Given the description of an element on the screen output the (x, y) to click on. 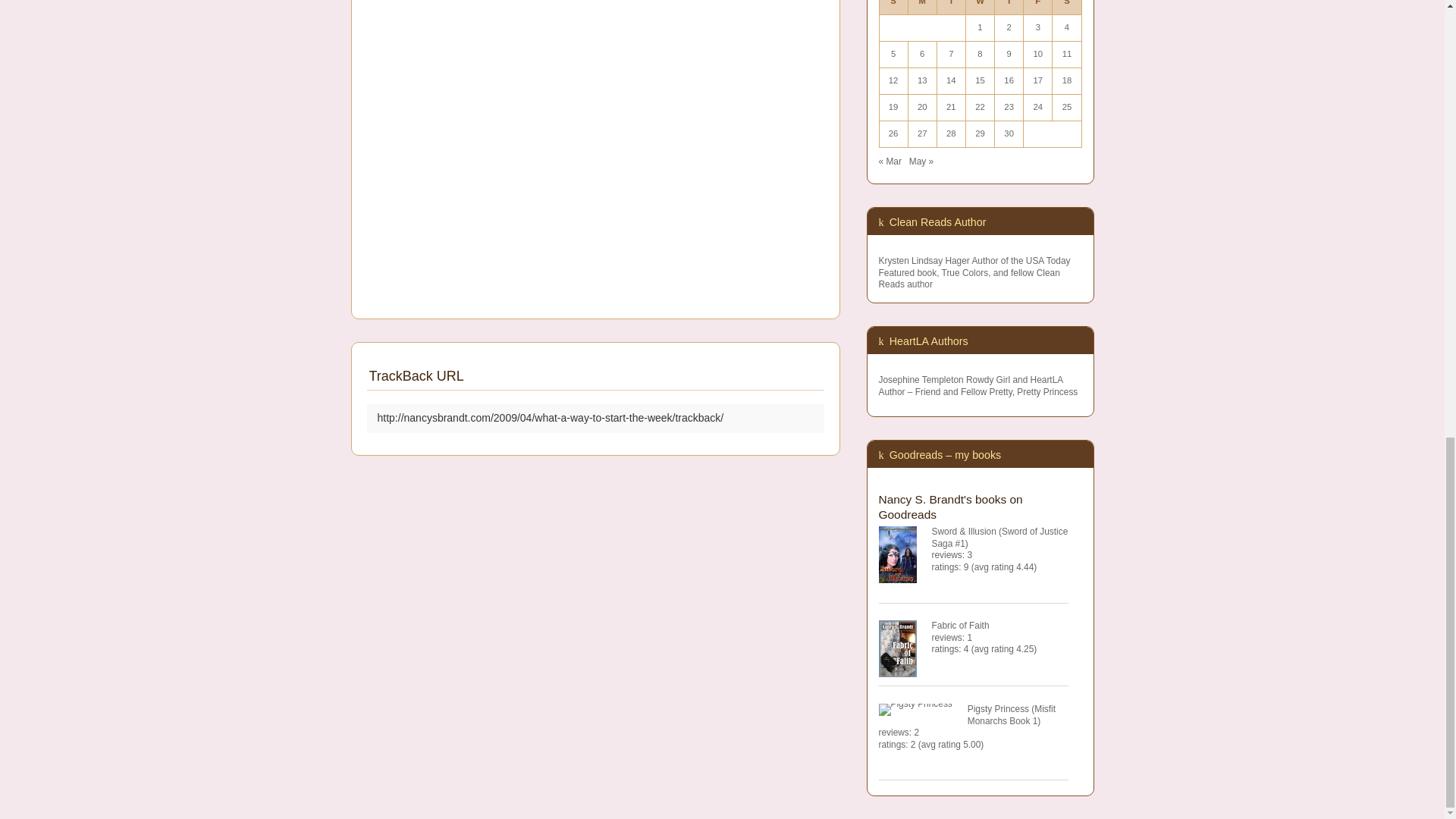
Wednesday (979, 7)
Tuesday (950, 7)
Sunday (893, 7)
Thursday (1008, 7)
Monday (921, 7)
